Given the description of an element on the screen output the (x, y) to click on. 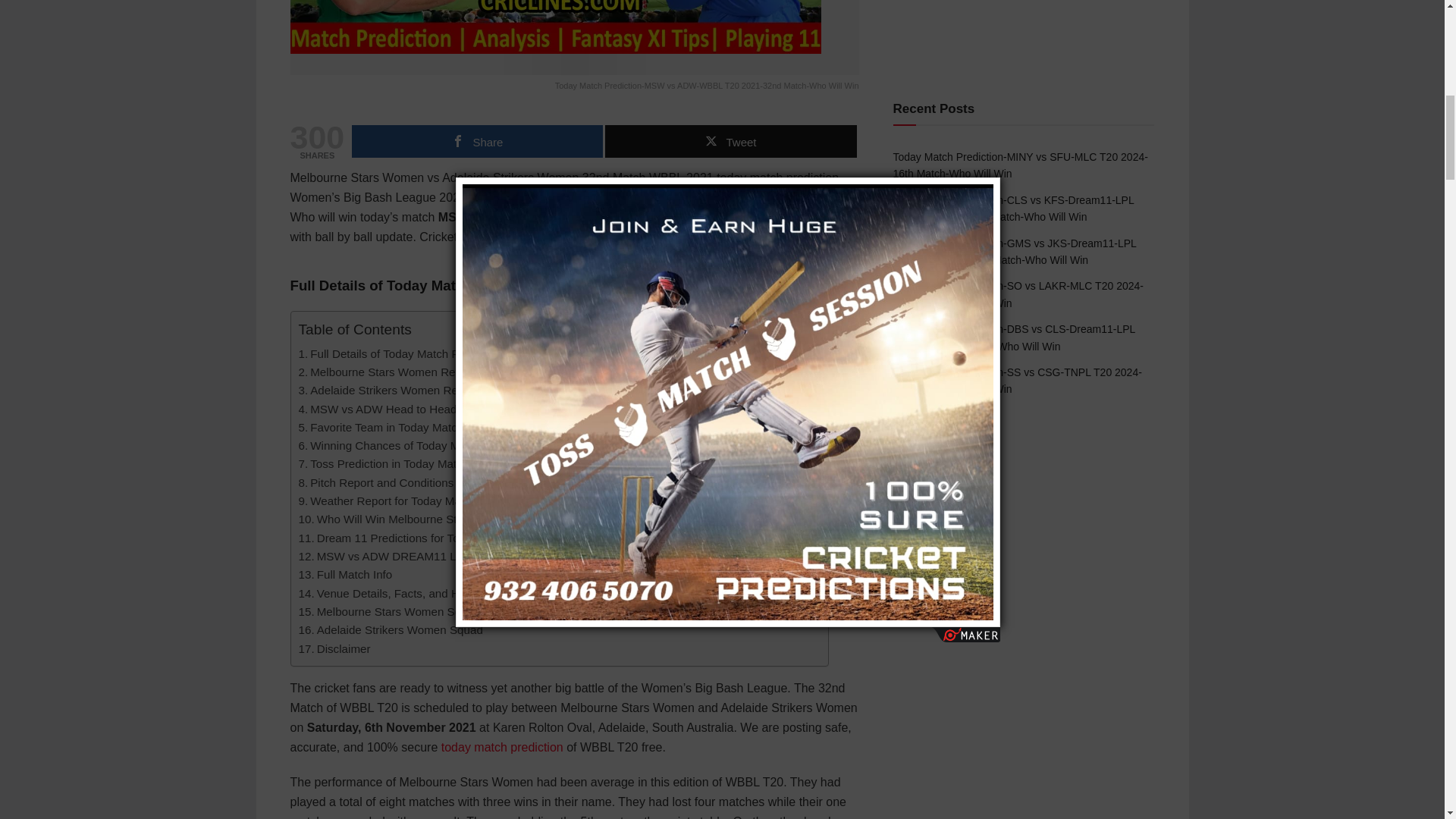
Toss Prediction in Today Match Prediction (411, 464)
Favorite Team in Today Match Prediction (408, 427)
Pitch Report and Conditions (376, 483)
Winning Chances of Today Match for the Both Teams (439, 445)
Weather Report for Today Match (387, 501)
Adelaide Strikers Women Reviews (392, 390)
Melbourne Stars Women Reviews (391, 372)
Full Details of Today Match Prediction (400, 353)
MSW vs ADW Head to Head Matches (400, 409)
